Given the description of an element on the screen output the (x, y) to click on. 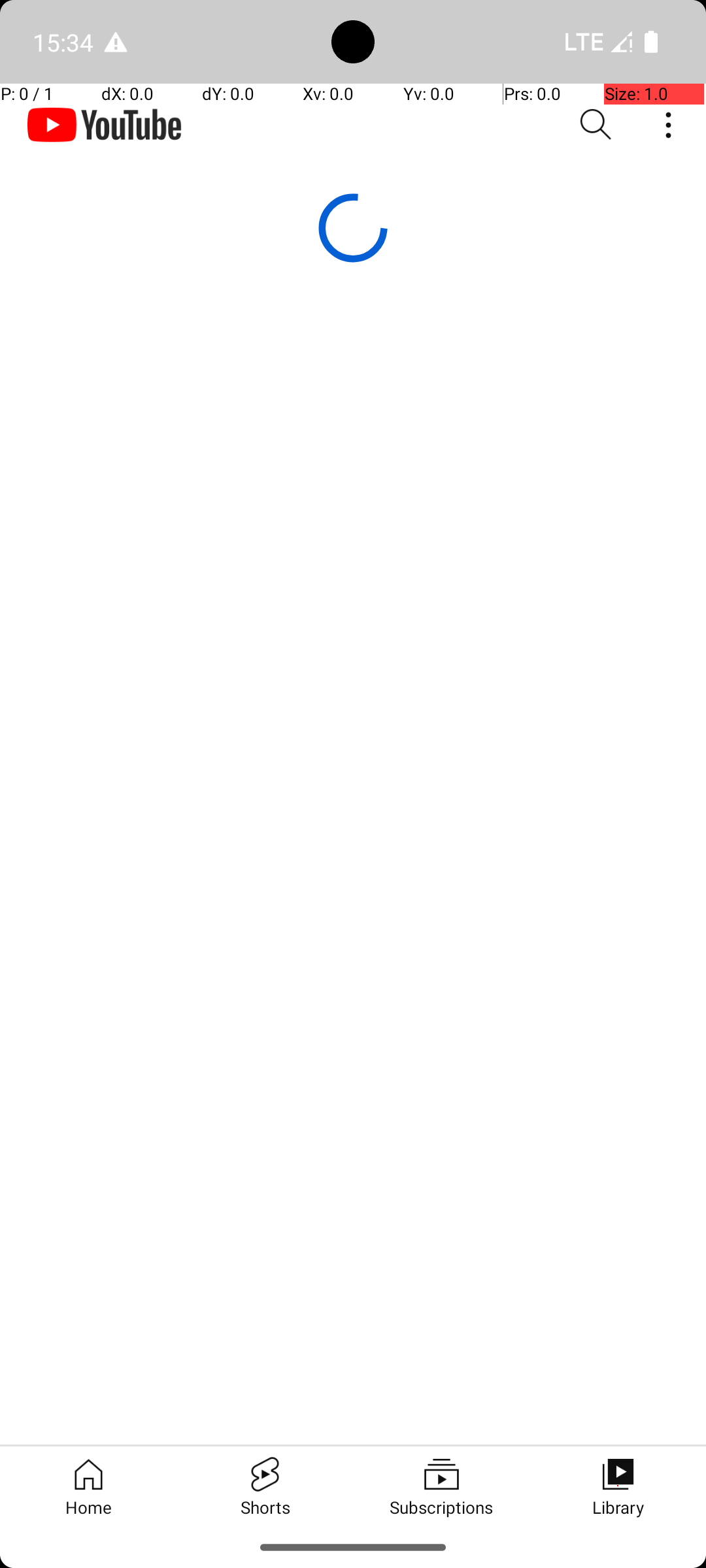
Shorts Element type: android.widget.Button (264, 1485)
Subscriptions Element type: android.widget.Button (441, 1485)
Library Element type: android.widget.Button (617, 1485)
